Given the description of an element on the screen output the (x, y) to click on. 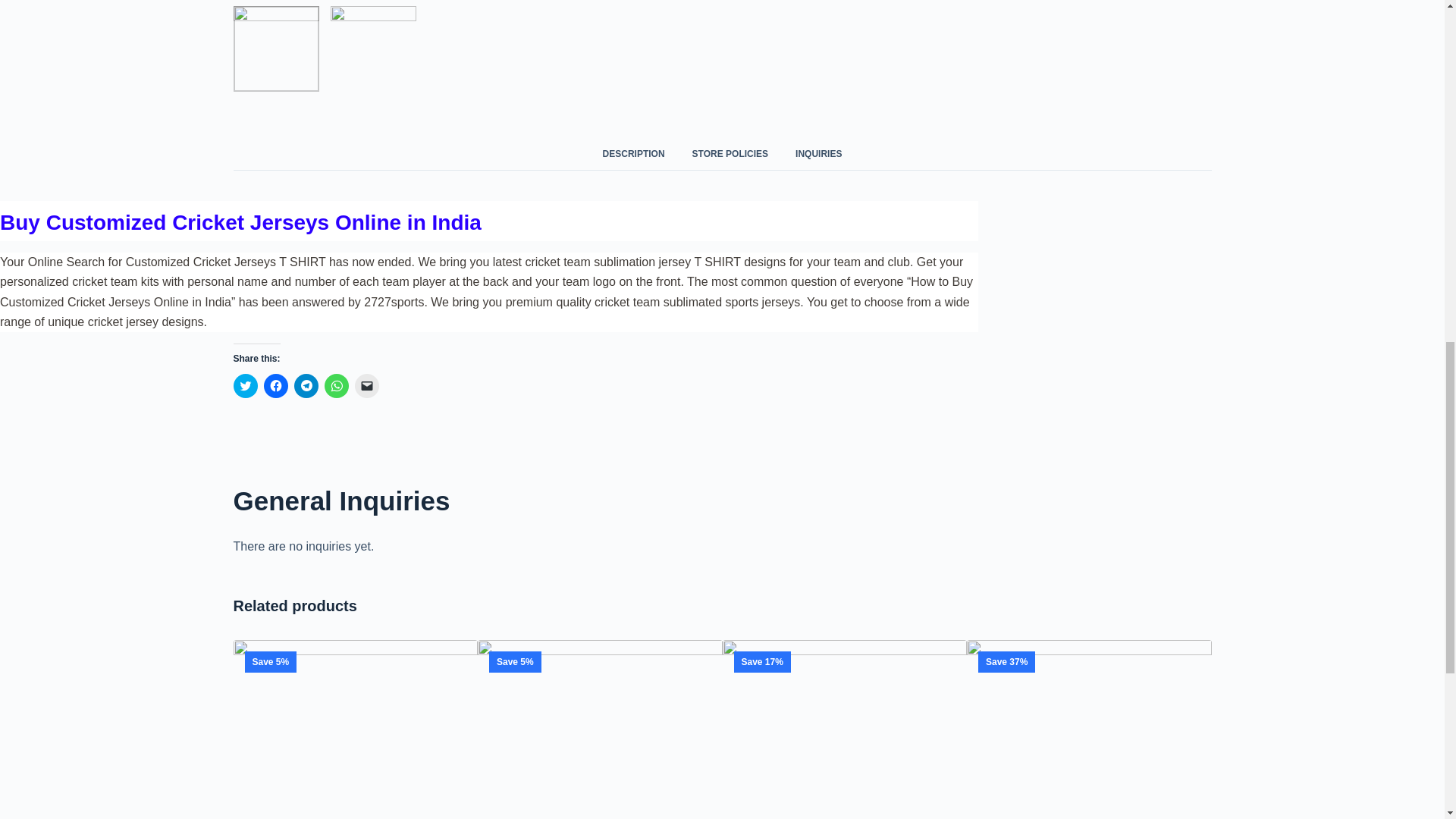
Click to share on Facebook (275, 385)
WhatsApp Image 2022-08-01 at 3.00.57 PM (275, 48)
STORE POLICIES (729, 153)
Click to share on WhatsApp (336, 385)
DESCRIPTION (633, 153)
Click to share on Twitter (244, 385)
Click to share on Telegram (306, 385)
WhatsApp Image 2022-09-01 at 1.20.40 PM (373, 48)
WhatsApp Image 2022-01-08 at 1.31.01 PM (599, 729)
INQUIRIES (818, 153)
Click to email a link to a friend (366, 385)
